Given the description of an element on the screen output the (x, y) to click on. 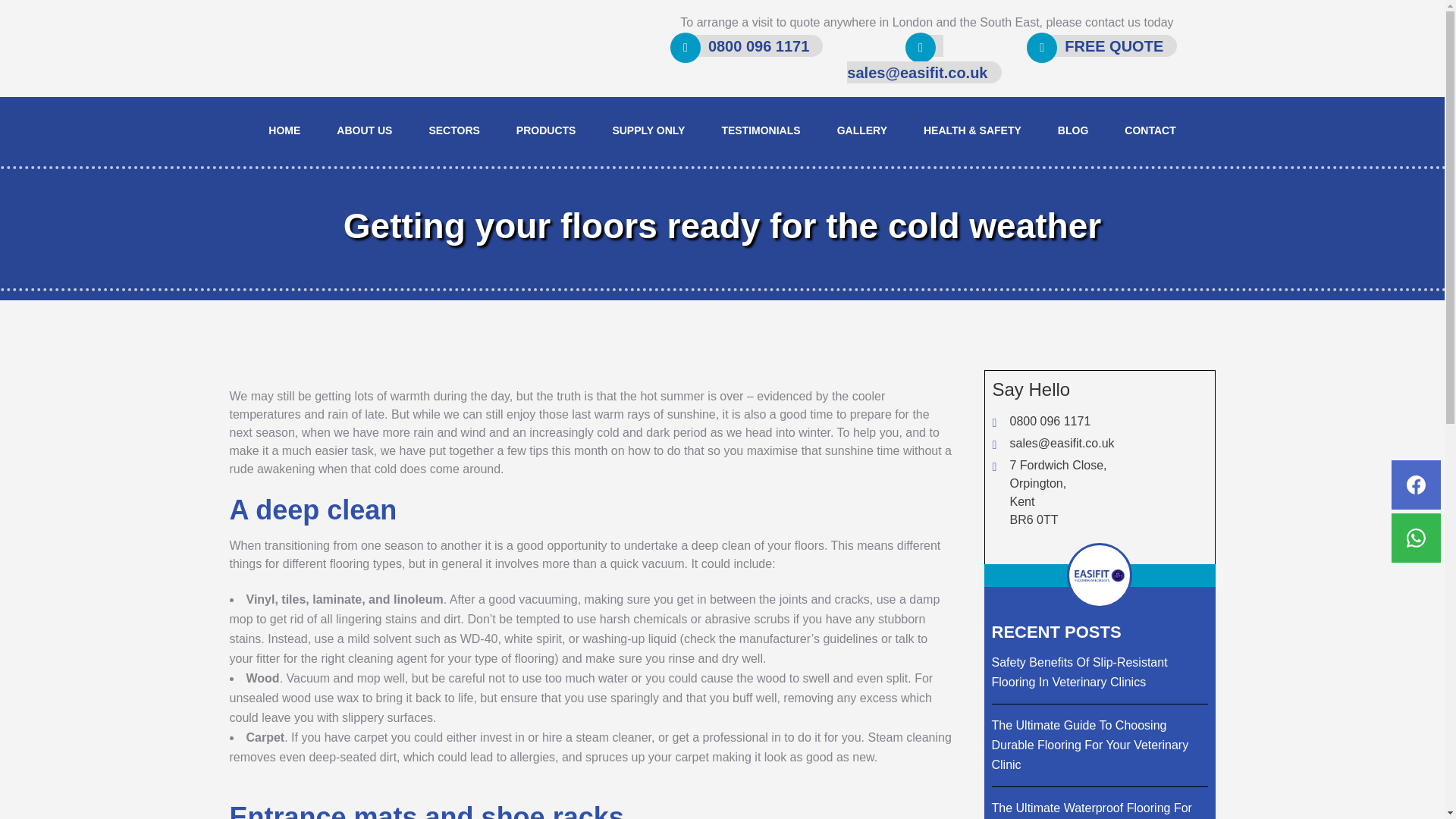
SUPPLY ONLY (648, 130)
PRODUCTS (545, 130)
SECTORS (453, 130)
FREE QUOTE (1101, 45)
HOME (284, 130)
ABOUT US (364, 130)
Facebook (1416, 484)
WhatsApp (1416, 537)
0800 096 1171 (745, 45)
